Given the description of an element on the screen output the (x, y) to click on. 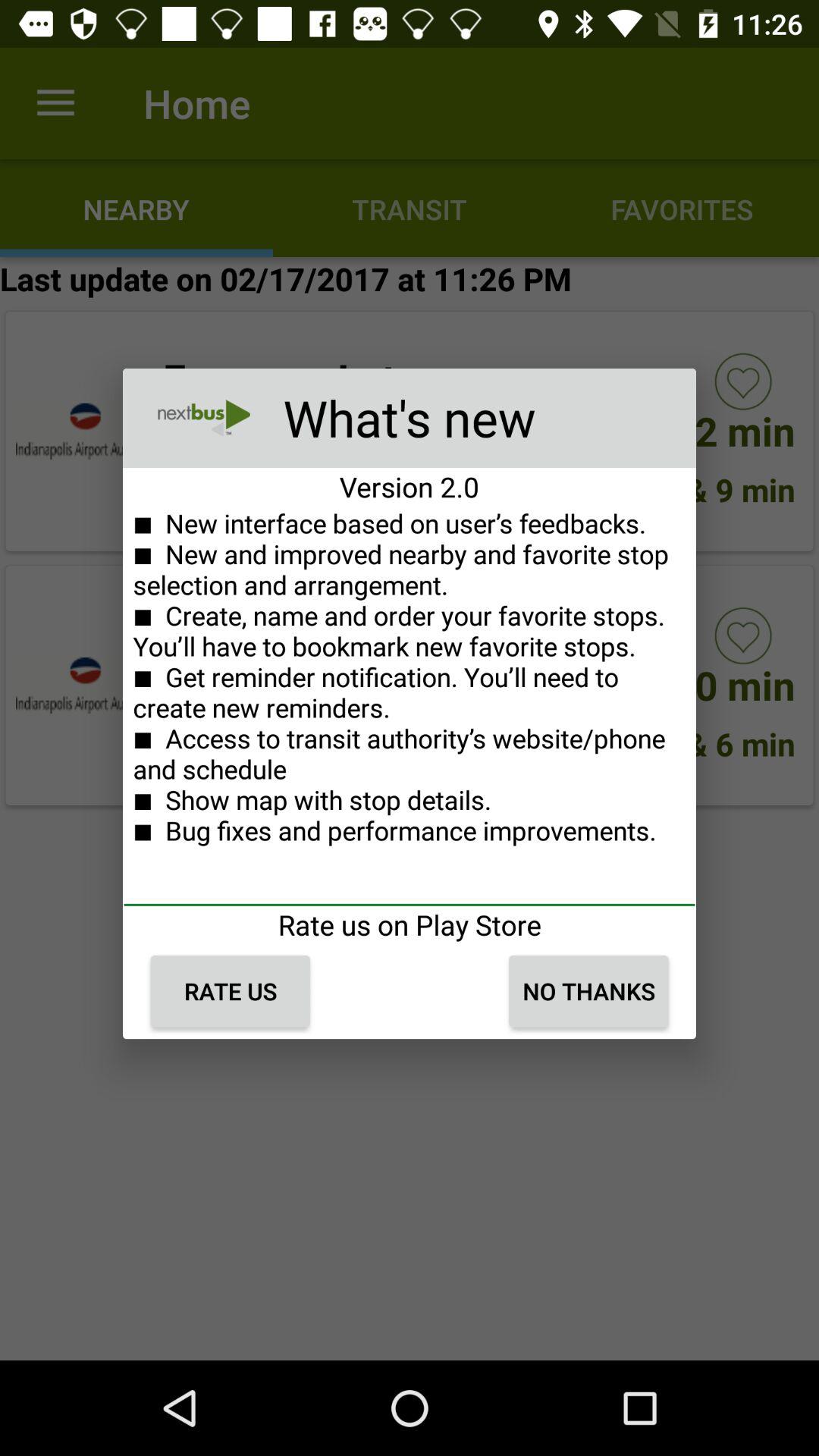
press the no thanks at the bottom right corner (588, 991)
